Given the description of an element on the screen output the (x, y) to click on. 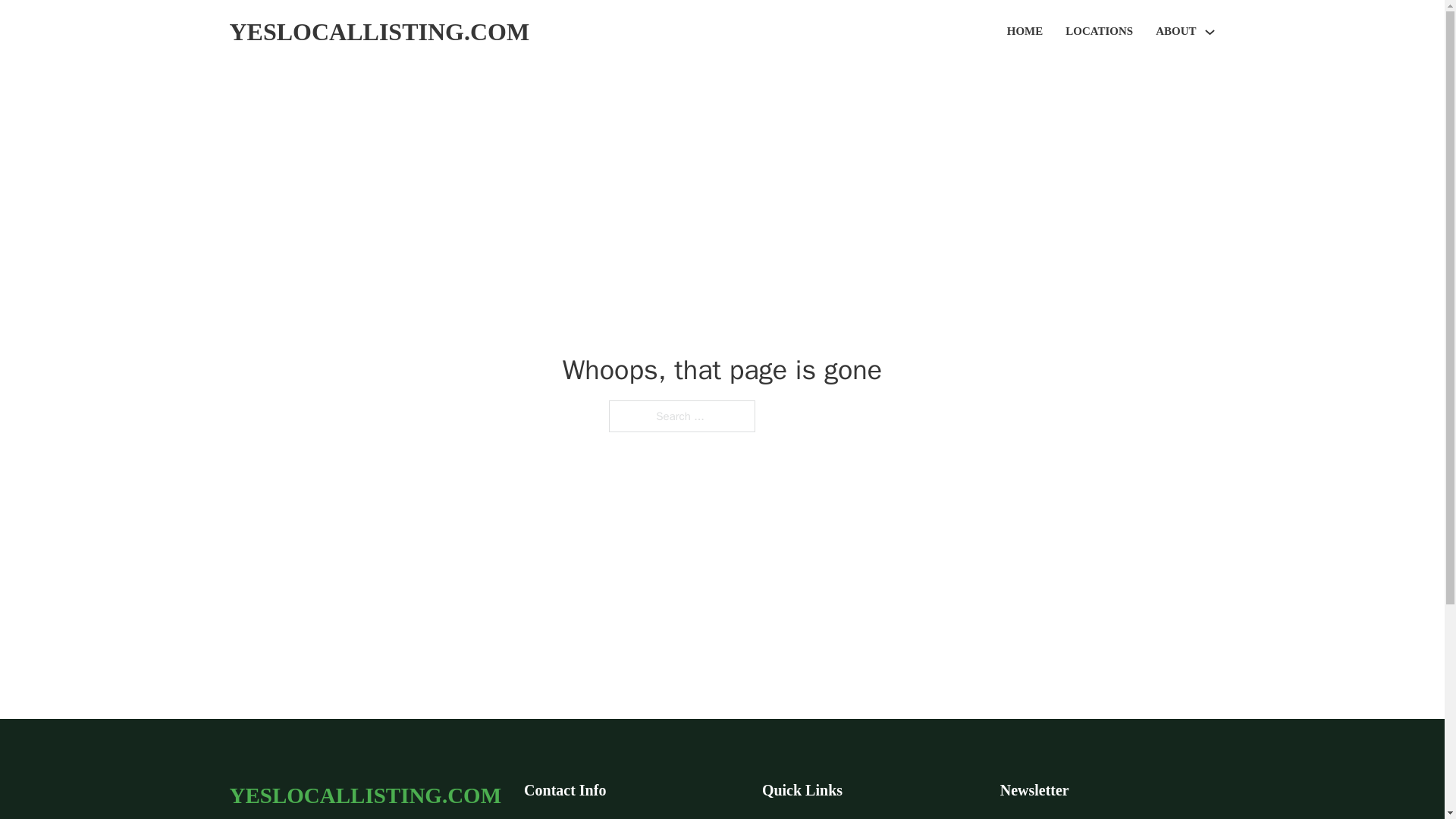
HOME (1025, 31)
YESLOCALLISTING.COM (378, 31)
YESLOCALLISTING.COM (364, 795)
LOCATIONS (1098, 31)
